Given the description of an element on the screen output the (x, y) to click on. 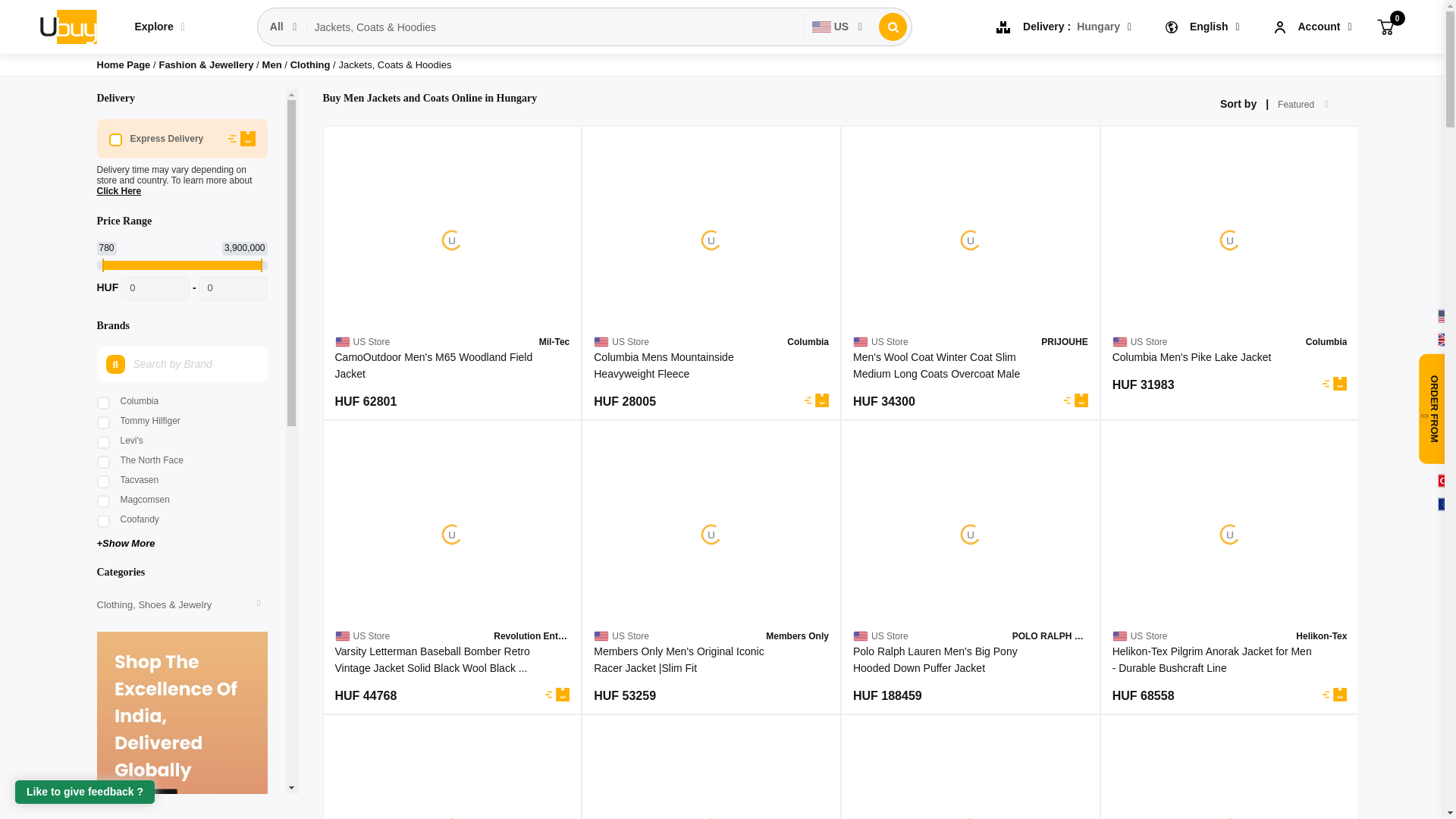
US (837, 26)
0 (232, 288)
0 (1385, 26)
Ubuy (67, 26)
0 (154, 288)
Home Page (124, 64)
All (283, 26)
Cart (1385, 26)
Home Page (124, 64)
